Given the description of an element on the screen output the (x, y) to click on. 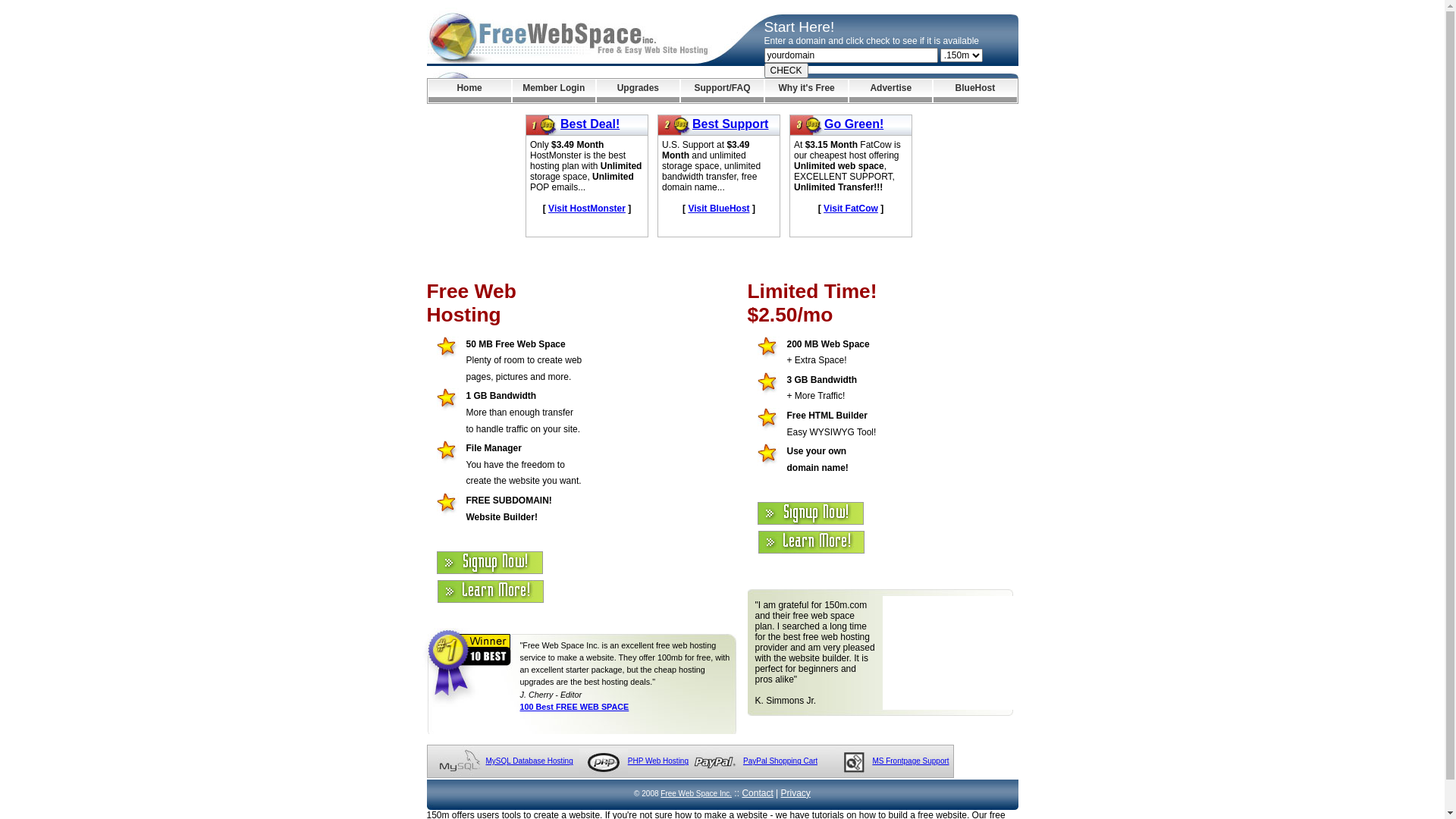
Home Element type: text (468, 90)
MySQL Database Hosting Element type: text (528, 760)
BlueHost Element type: text (974, 90)
MS Frontpage Support Element type: text (910, 760)
CHECK Element type: text (786, 70)
PHP Web Hosting Element type: text (657, 760)
Member Login Element type: text (553, 90)
Privacy Element type: text (795, 792)
Free Web Space Inc. Element type: text (695, 793)
Support/FAQ Element type: text (721, 90)
100 Best FREE WEB SPACE Element type: text (574, 706)
Advertise Element type: text (890, 90)
Contact Element type: text (756, 792)
PayPal Shopping Cart Element type: text (780, 760)
Why it's Free Element type: text (806, 90)
Upgrades Element type: text (637, 90)
